Given the description of an element on the screen output the (x, y) to click on. 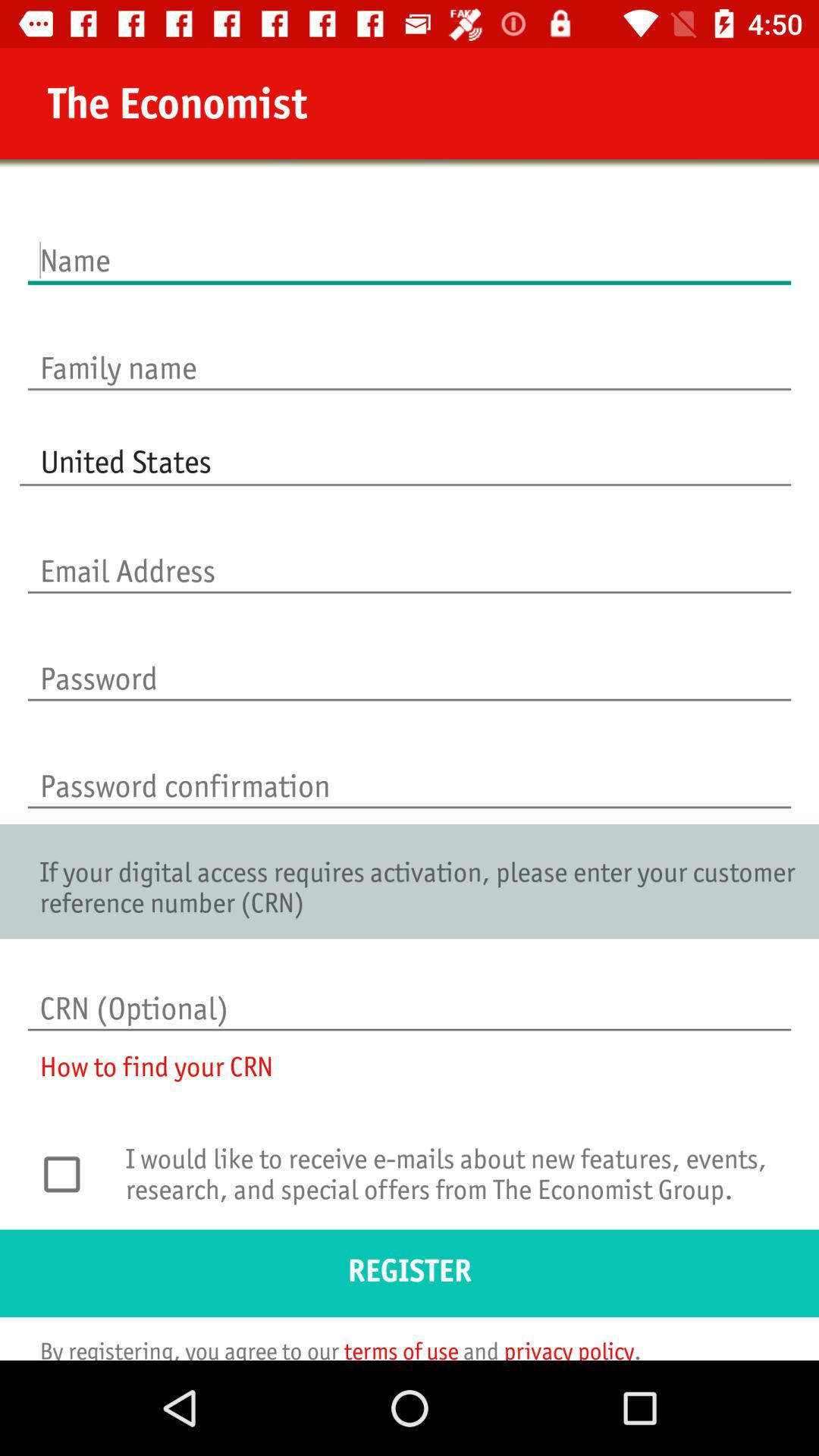
password field (409, 662)
